Given the description of an element on the screen output the (x, y) to click on. 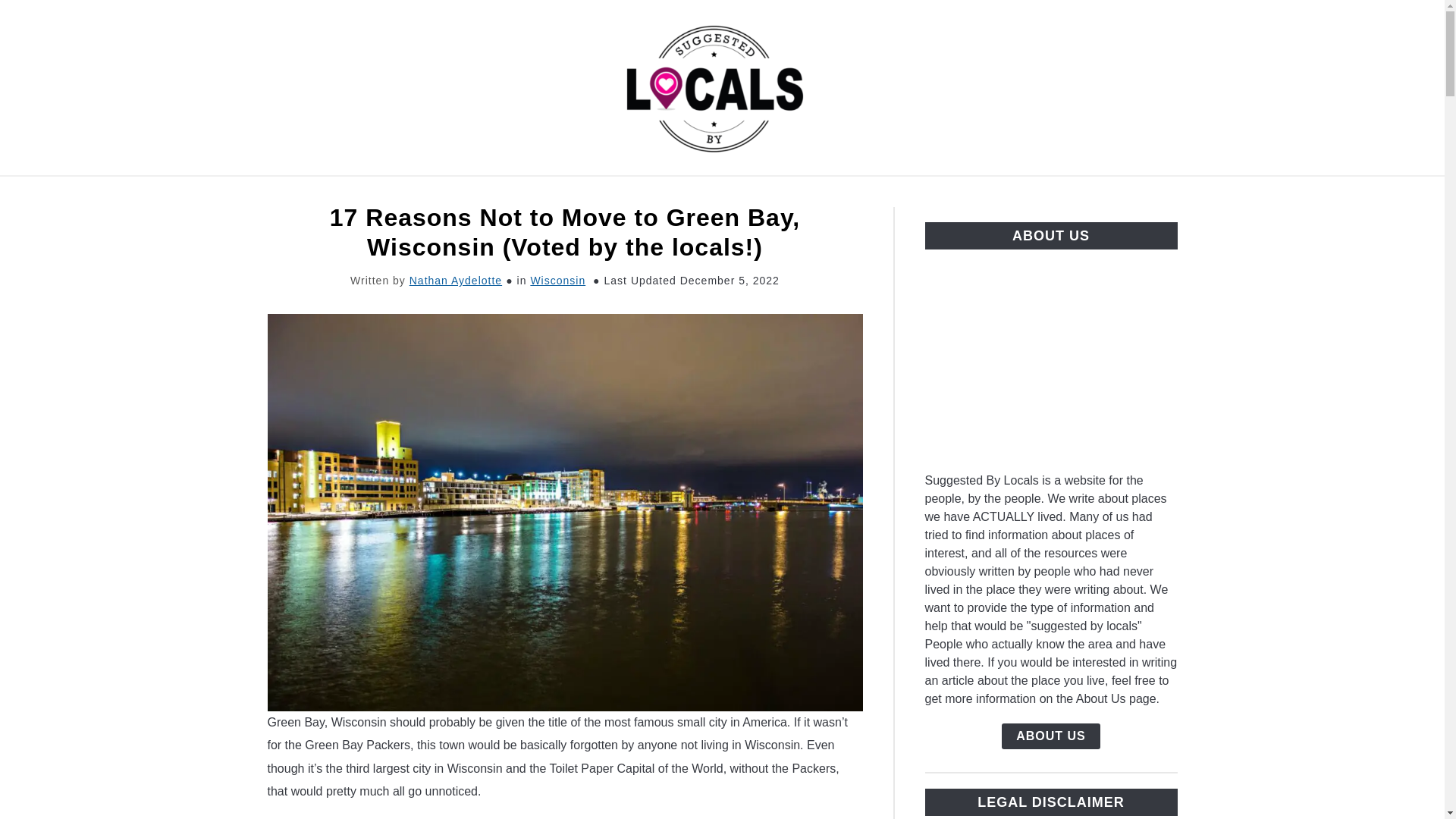
INTERESTING FACTS (638, 193)
Search (1203, 87)
POLITICS (769, 193)
LOCAL SECRETS (886, 193)
HELPFUL TIPS (1021, 193)
Nathan Aydelotte (455, 280)
GENERAL INFORMATION (456, 193)
ABOUT US (1050, 736)
Wisconsin (557, 280)
